Given the description of an element on the screen output the (x, y) to click on. 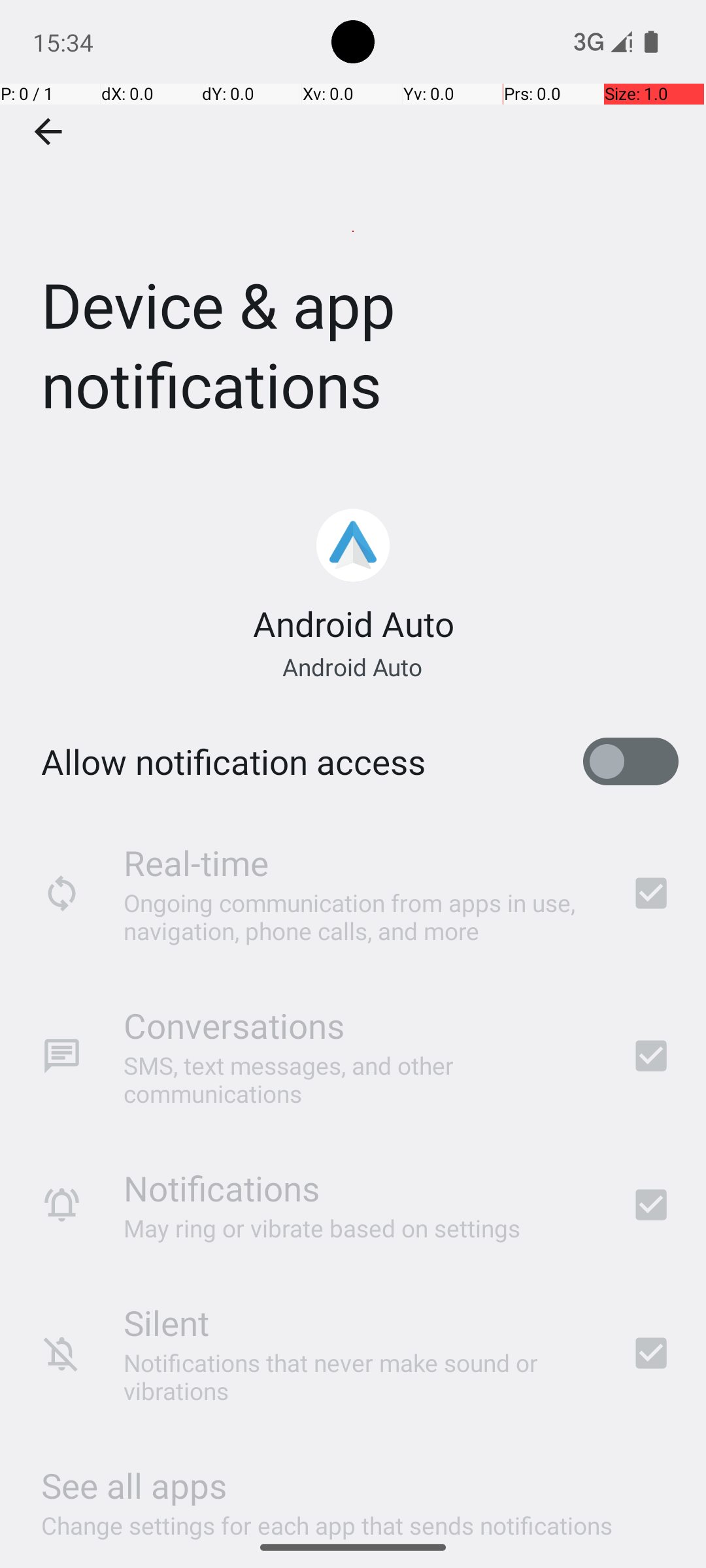
Android Auto Element type: android.widget.TextView (352, 623)
Allow notification access Element type: android.widget.TextView (233, 761)
Real-time Element type: android.widget.TextView (195, 862)
Ongoing communication from apps in use, navigation, phone calls, and more Element type: android.widget.TextView (359, 916)
SMS, text messages, and other communications Element type: android.widget.TextView (359, 1079)
May ring or vibrate based on settings Element type: android.widget.TextView (322, 1227)
Silent Element type: android.widget.TextView (166, 1322)
Notifications that never make sound or vibrations Element type: android.widget.TextView (359, 1376)
See all apps Element type: android.widget.TextView (133, 1485)
Change settings for each app that sends notifications Element type: android.widget.TextView (326, 1517)
